Given the description of an element on the screen output the (x, y) to click on. 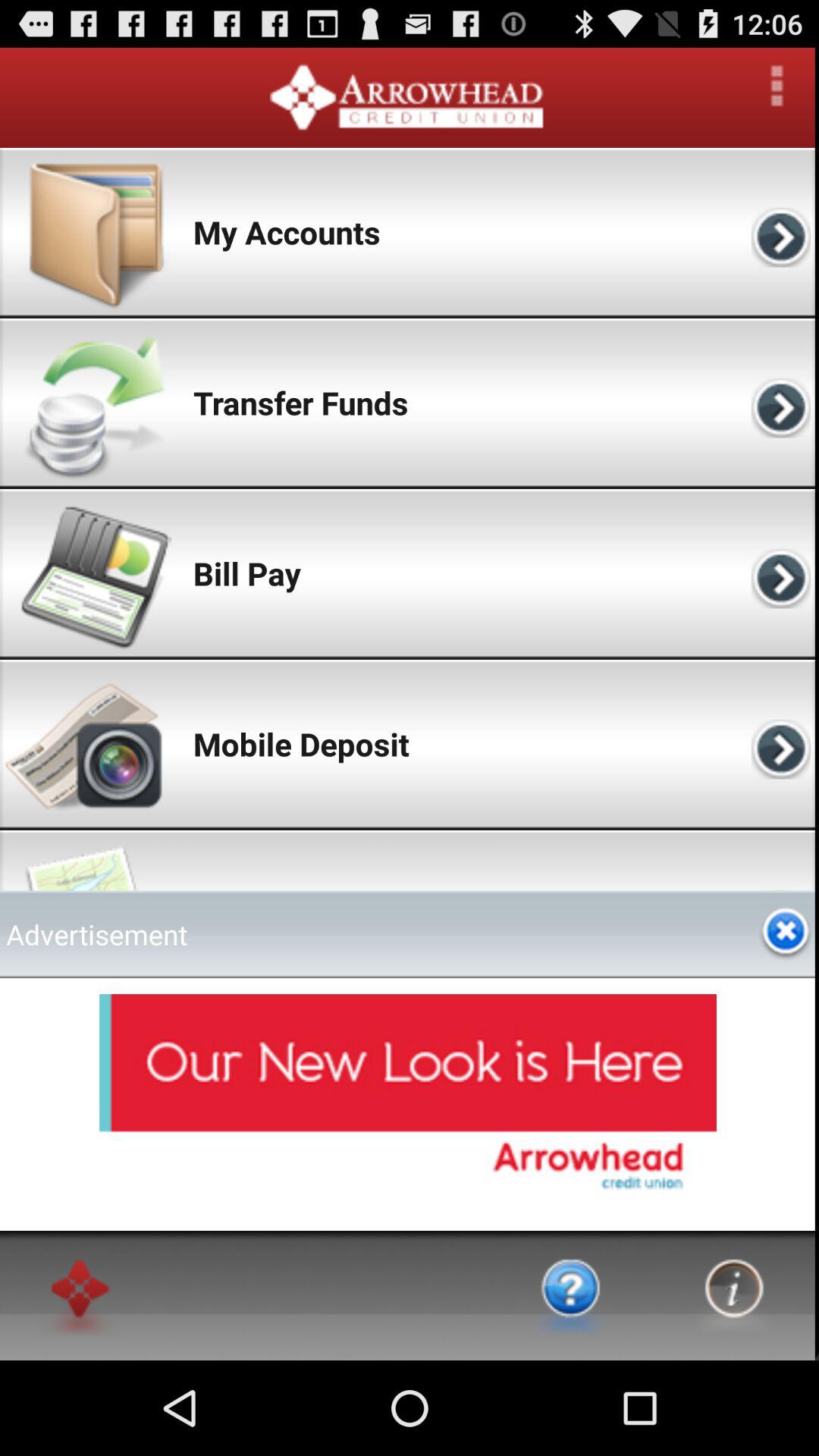
close item (785, 933)
